Given the description of an element on the screen output the (x, y) to click on. 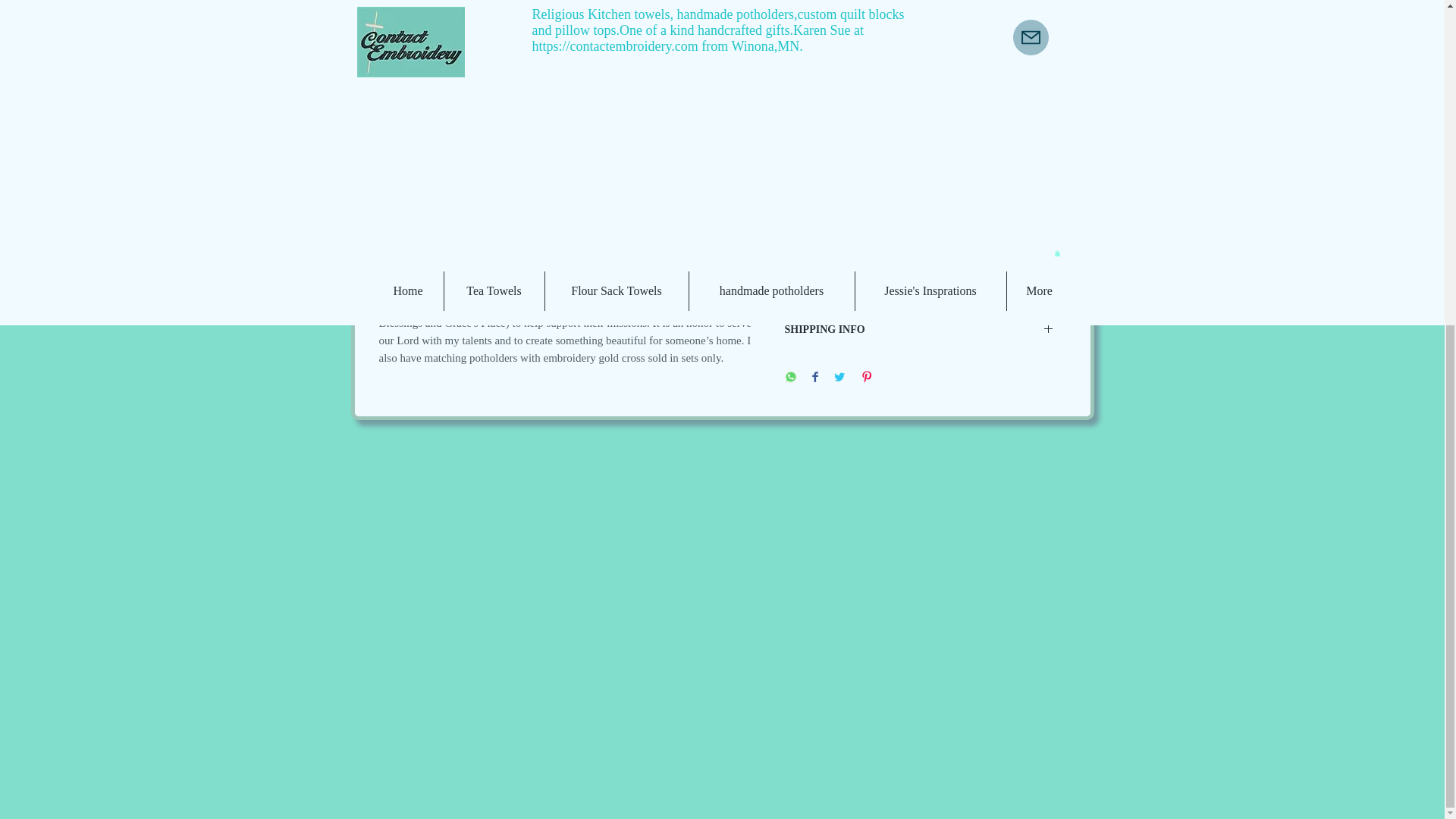
Add to Cart (918, 50)
measures Approximate 18 x 26 (918, 111)
SHIPPING INFO (918, 329)
1 (833, 5)
